Given the description of an element on the screen output the (x, y) to click on. 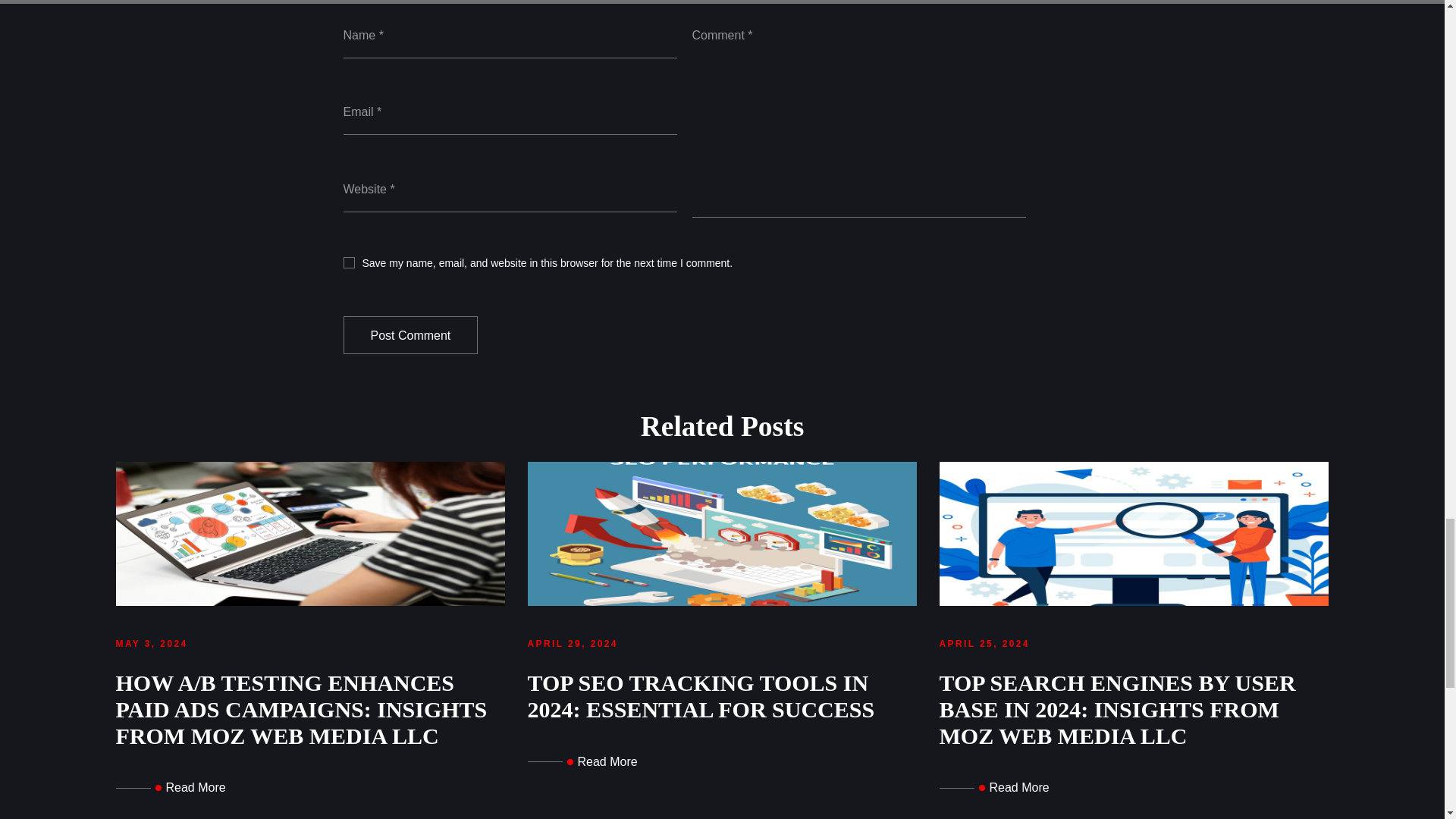
Post Comment (409, 335)
Top SEO Tracking Tools in 2024: Essential for Success (582, 762)
